Given the description of an element on the screen output the (x, y) to click on. 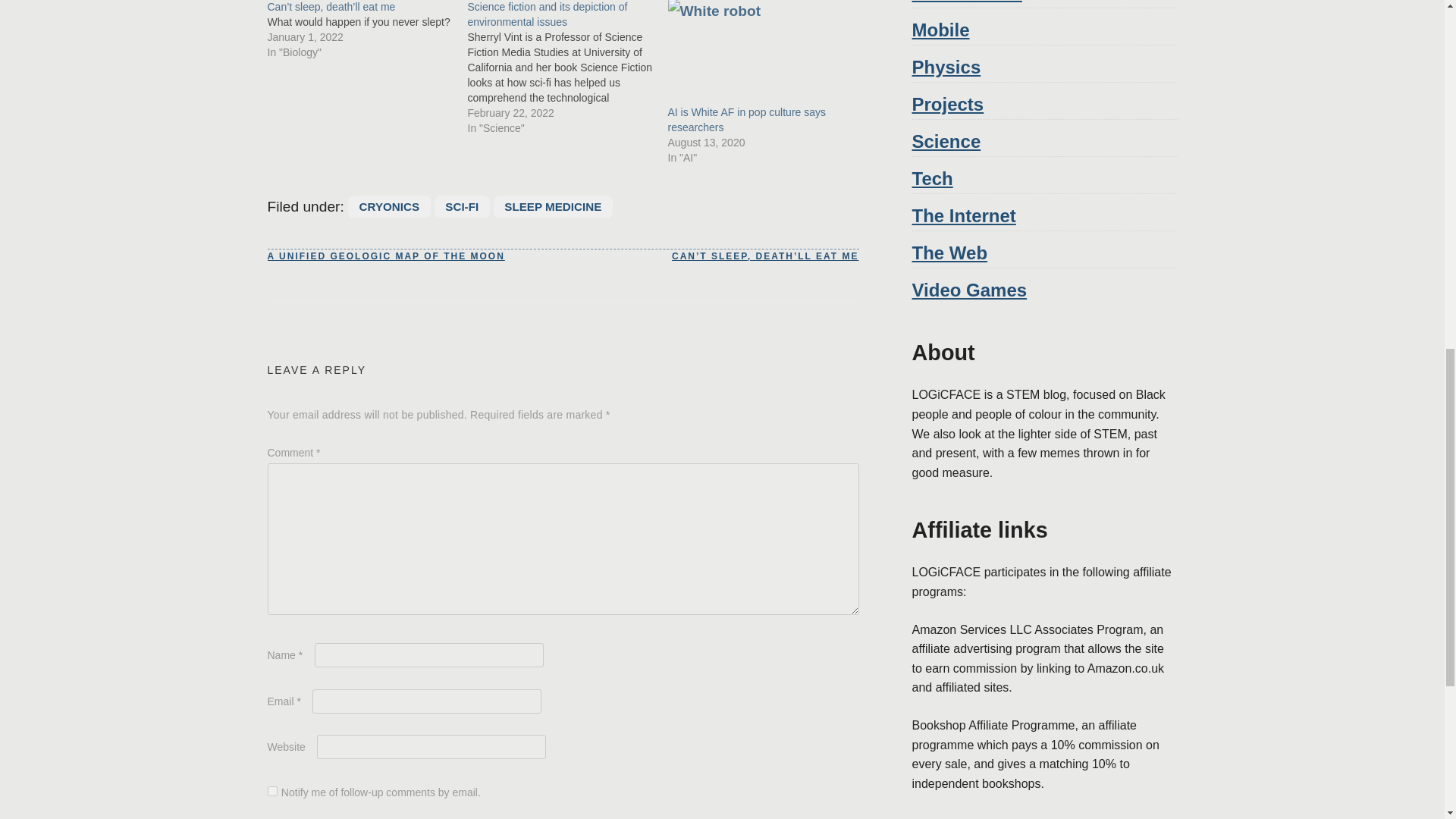
AI is White AF in pop culture says researchers (745, 119)
AI is White AF in pop culture says researchers (758, 52)
Mobile (940, 29)
SCI-FI (461, 206)
Science fiction and its depiction of environmental issues (566, 67)
Science fiction and its depiction of environmental issues (547, 13)
CRYONICS (388, 206)
Physics (945, 66)
AI is White AF in pop culture says researchers (745, 119)
SLEEP MEDICINE (552, 206)
subscribe (271, 791)
Mathematics (966, 1)
Projects (947, 104)
A UNIFIED GEOLOGIC MAP OF THE MOON (384, 256)
Science fiction and its depiction of environmental issues (547, 13)
